Given the description of an element on the screen output the (x, y) to click on. 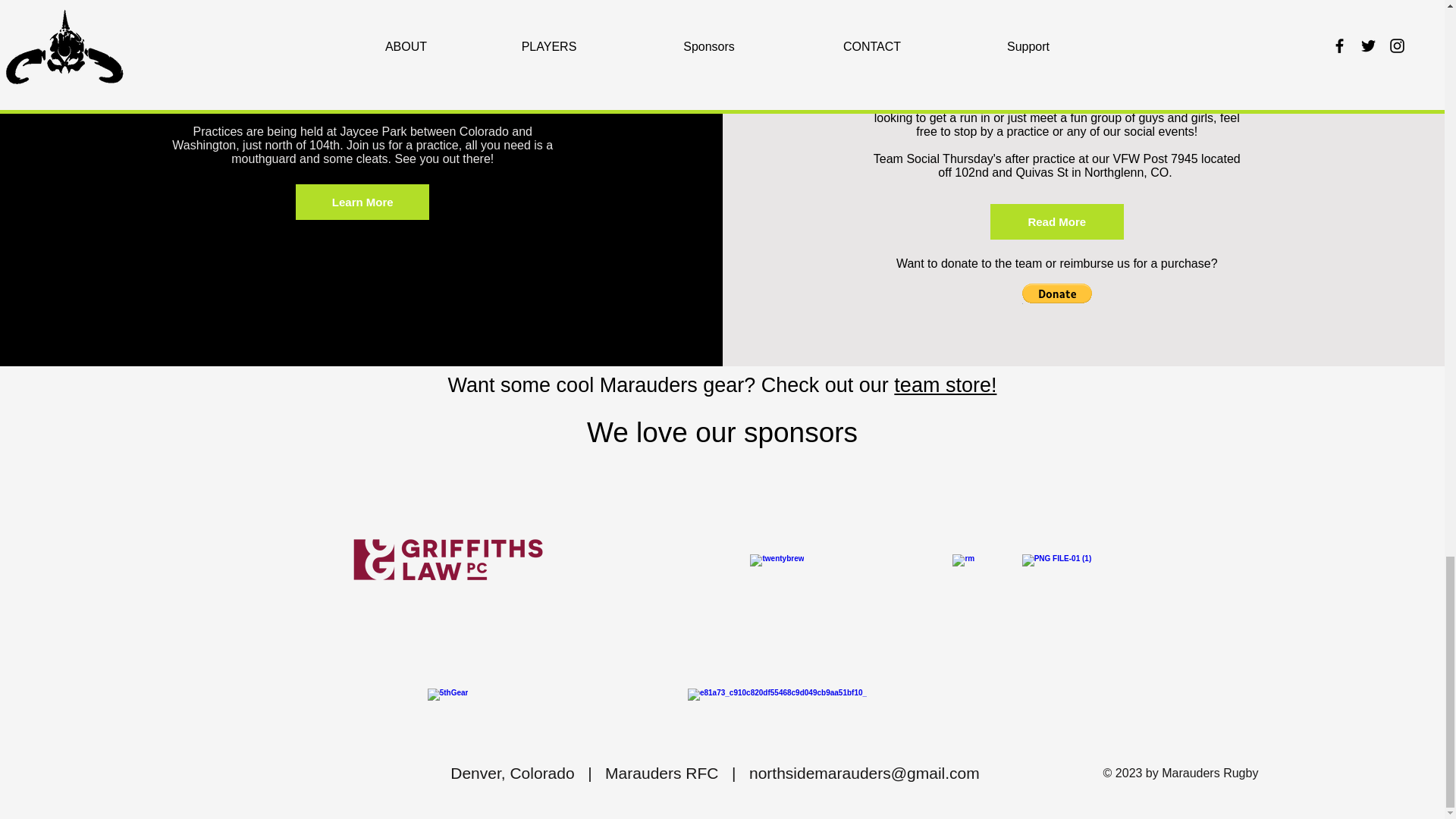
Learn More (362, 202)
team store! (944, 384)
Read More (1057, 221)
